Given the description of an element on the screen output the (x, y) to click on. 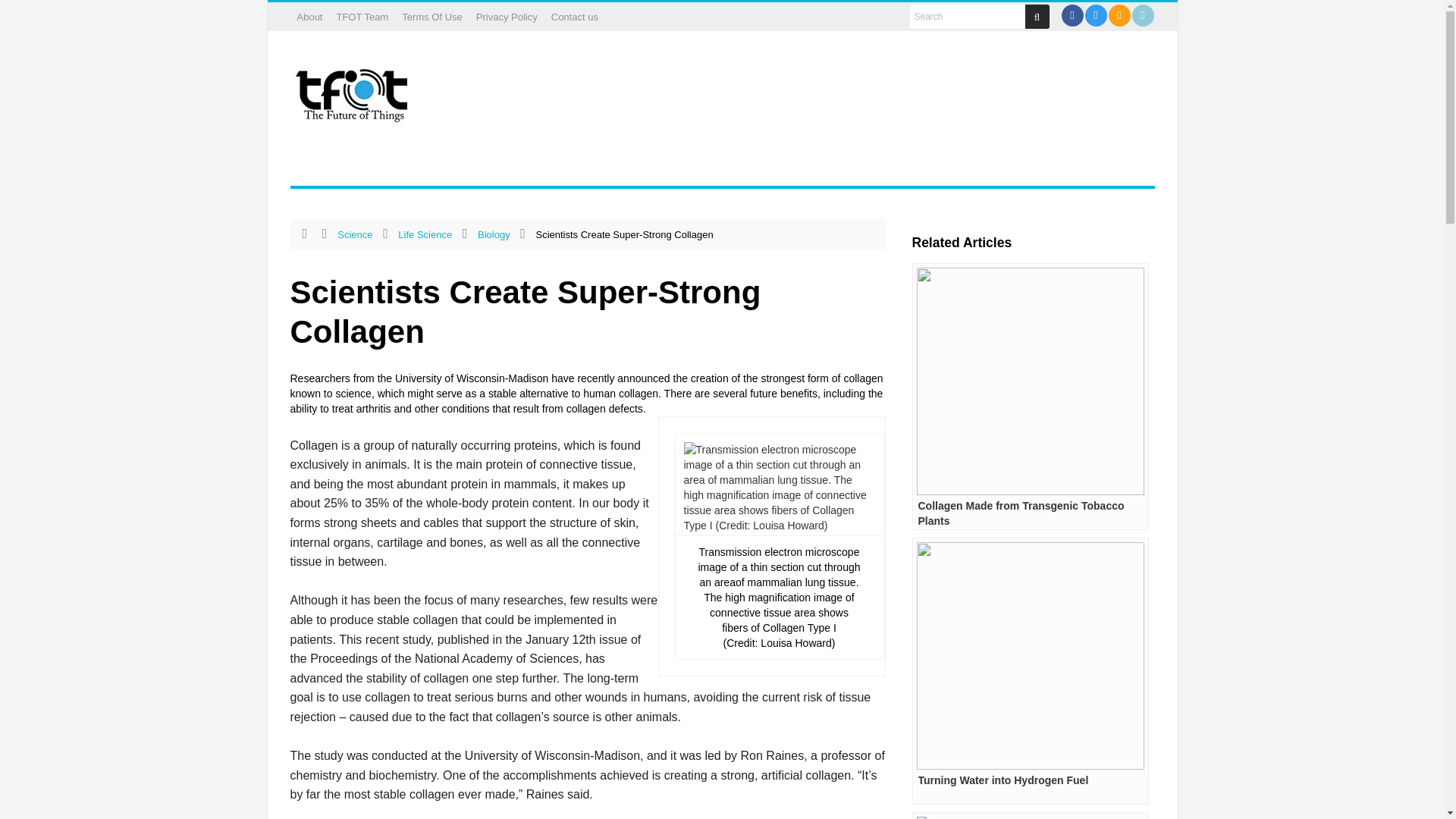
Twitter (1096, 15)
Communications (342, 167)
TFOT (354, 90)
Terms Of Use (431, 16)
Search (967, 16)
Computers (436, 167)
Contact us (574, 16)
TFOT Team (361, 16)
Facebook (1071, 15)
LinkedIn (1142, 15)
